Given the description of an element on the screen output the (x, y) to click on. 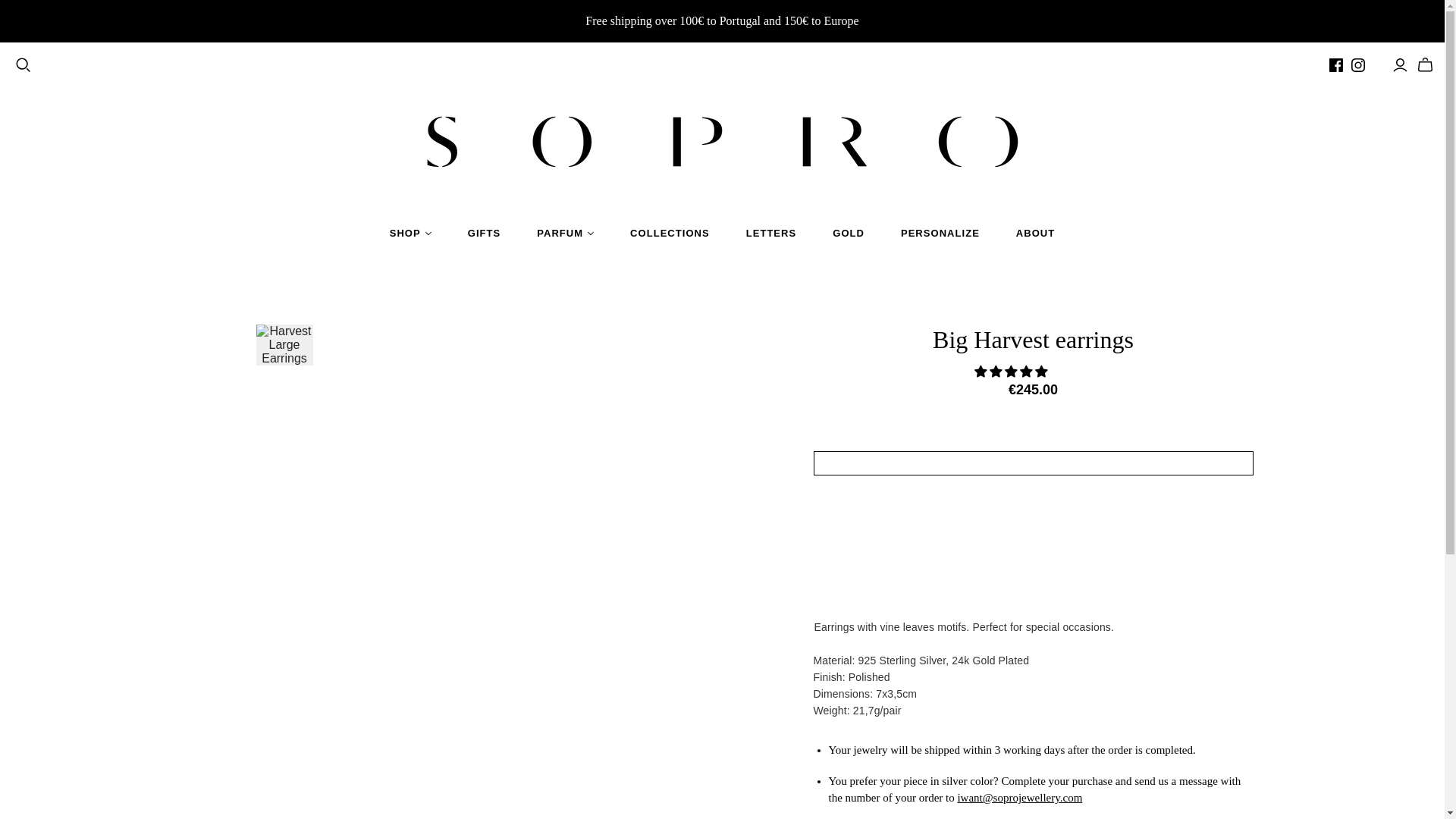
ABOUT (1035, 233)
PARFUM (564, 233)
GIFTS (483, 233)
LETTERS (771, 233)
GOLD (847, 233)
PERSONALIZE (939, 233)
SHOP (410, 233)
COLLECTIONS (669, 233)
